Given the description of an element on the screen output the (x, y) to click on. 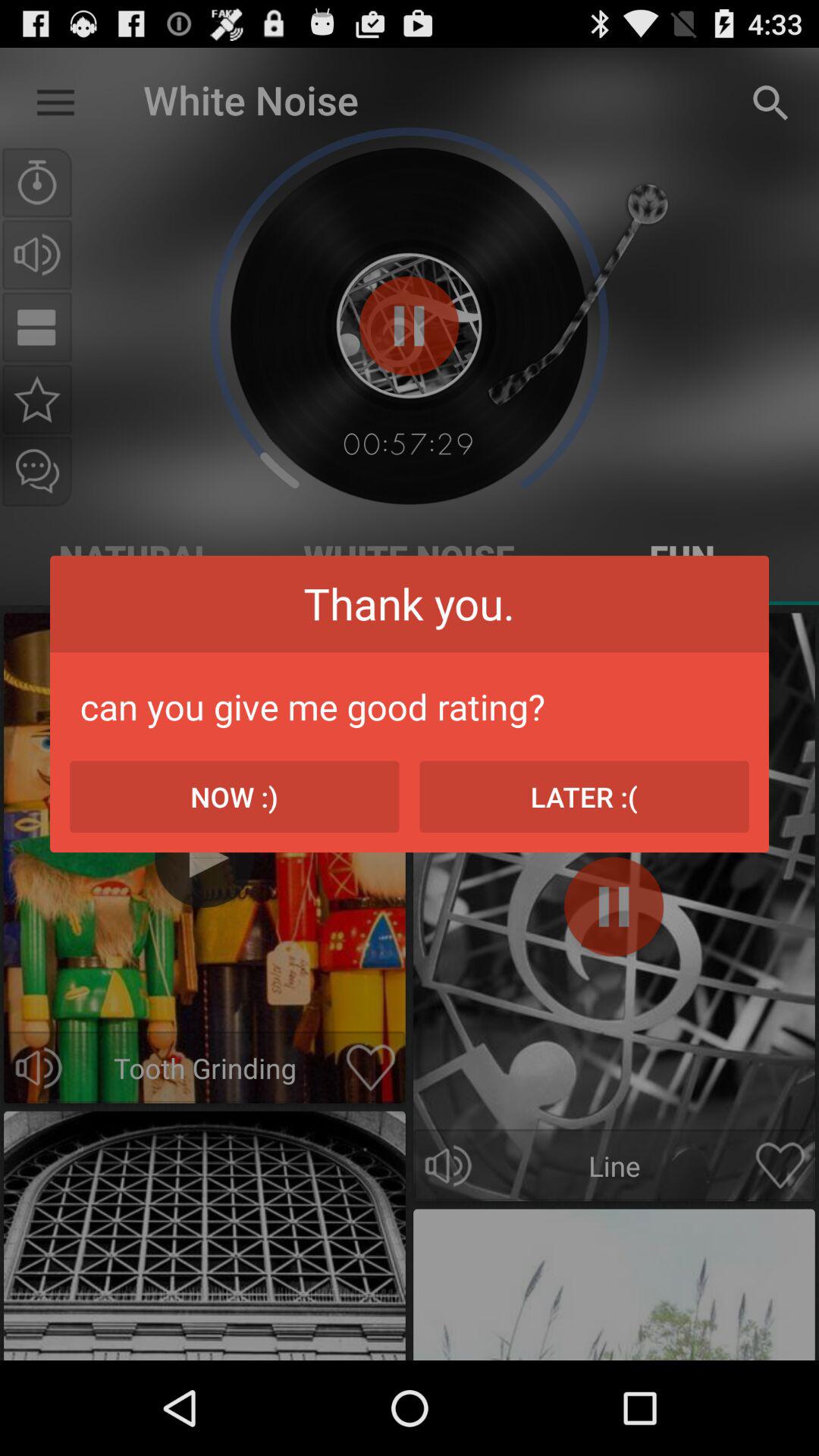
turn off the icon on the left (234, 796)
